Given the description of an element on the screen output the (x, y) to click on. 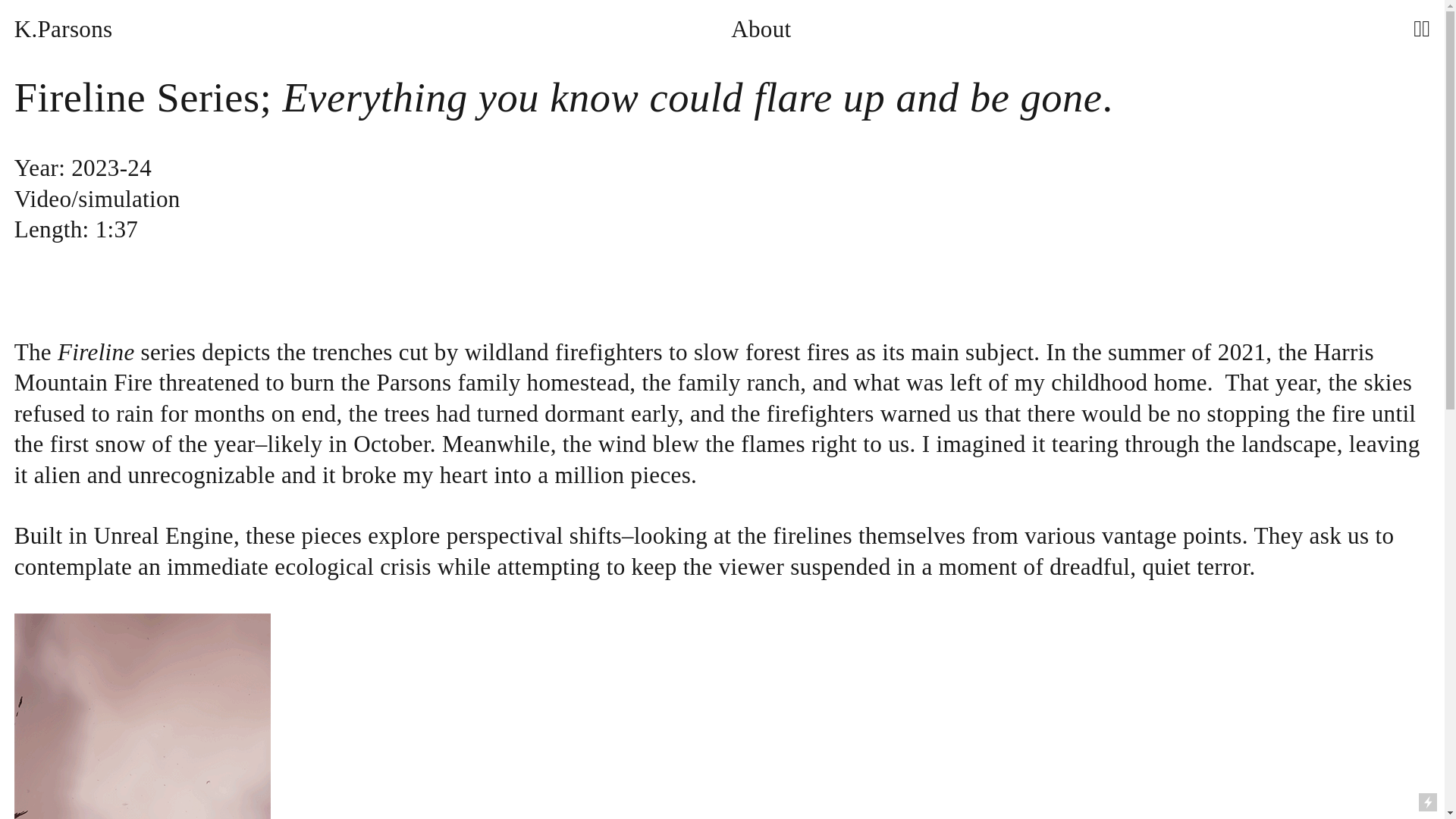
K.Parsons (63, 30)
About (760, 30)
